Given the description of an element on the screen output the (x, y) to click on. 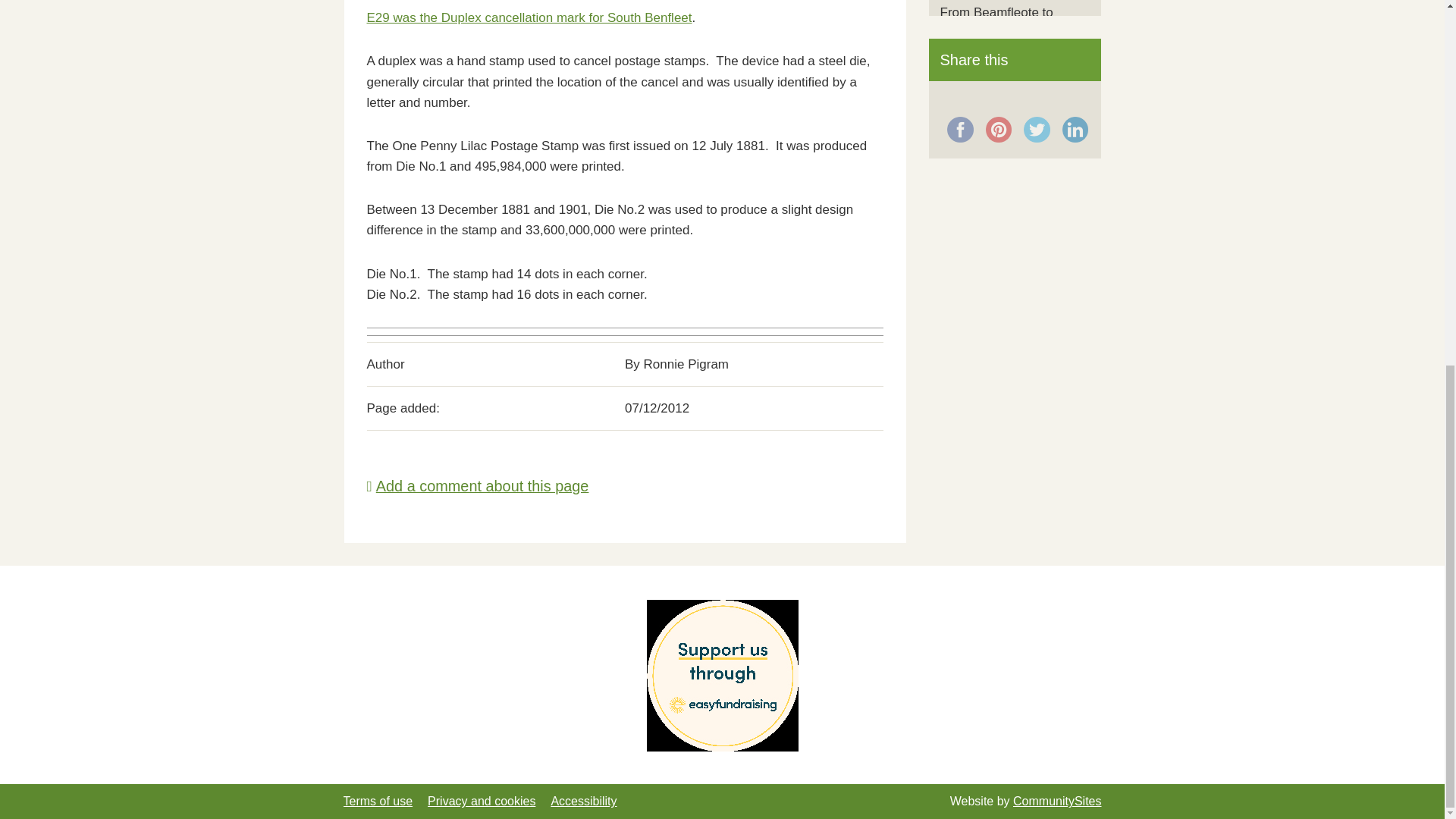
Harold Edford Priestley (1006, 74)
From Beamfleote to Benfleet (996, 21)
Add a comment about this page (477, 485)
E29 was the Duplex cancellation mark for South Benfleet (529, 17)
